Given the description of an element on the screen output the (x, y) to click on. 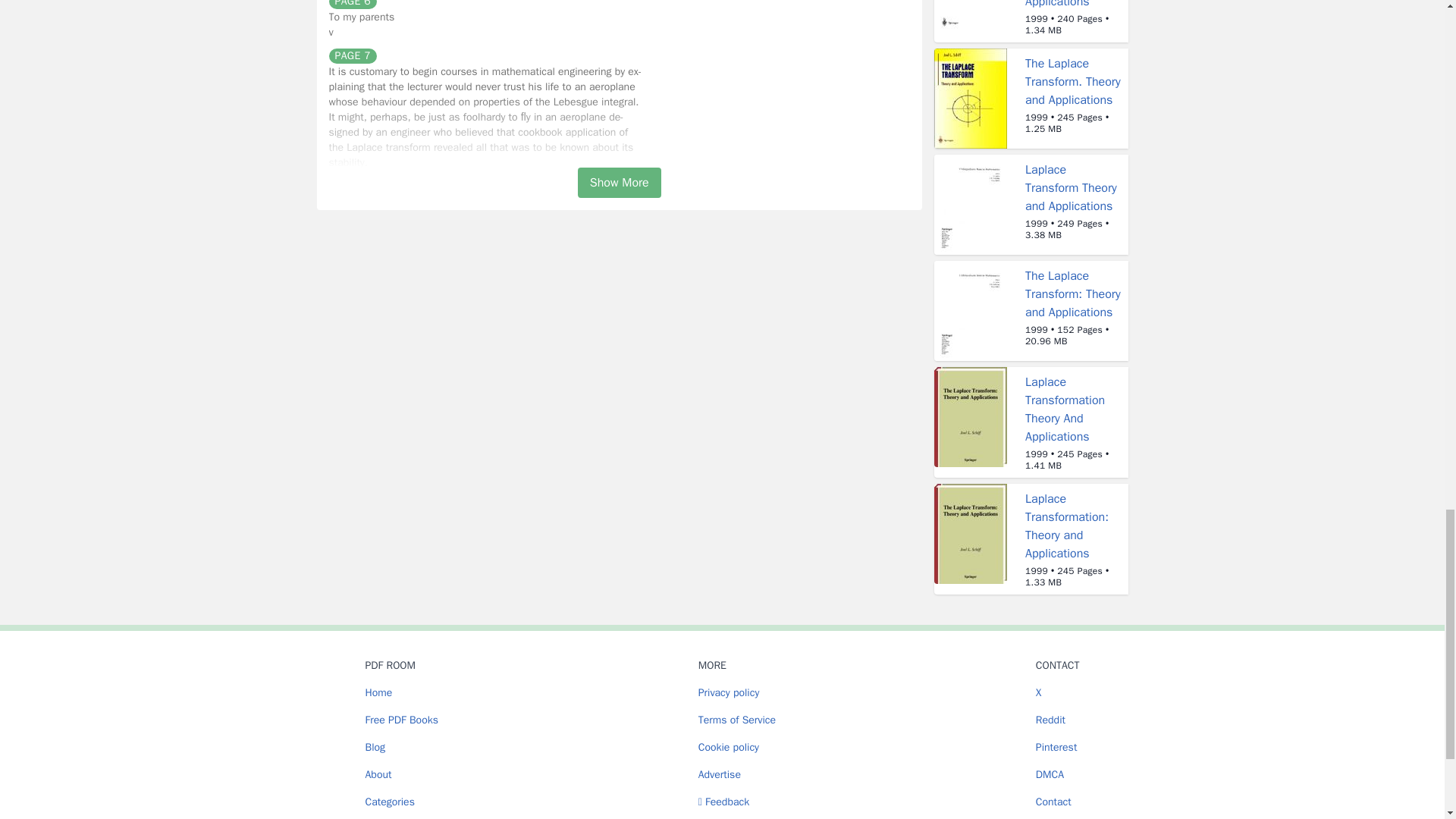
Schiff Laplace Transformation Theory And Applications (1065, 4)
The Laplace Transform: Theory and Applications (1073, 294)
Laplace Transform Theory and Applications (1070, 187)
The Laplace Transform. Theory and Applications (1073, 81)
Laplace Transformation Theory And Applications (1065, 409)
Laplace Transformation: Theory and Applications (1066, 526)
